Given the description of an element on the screen output the (x, y) to click on. 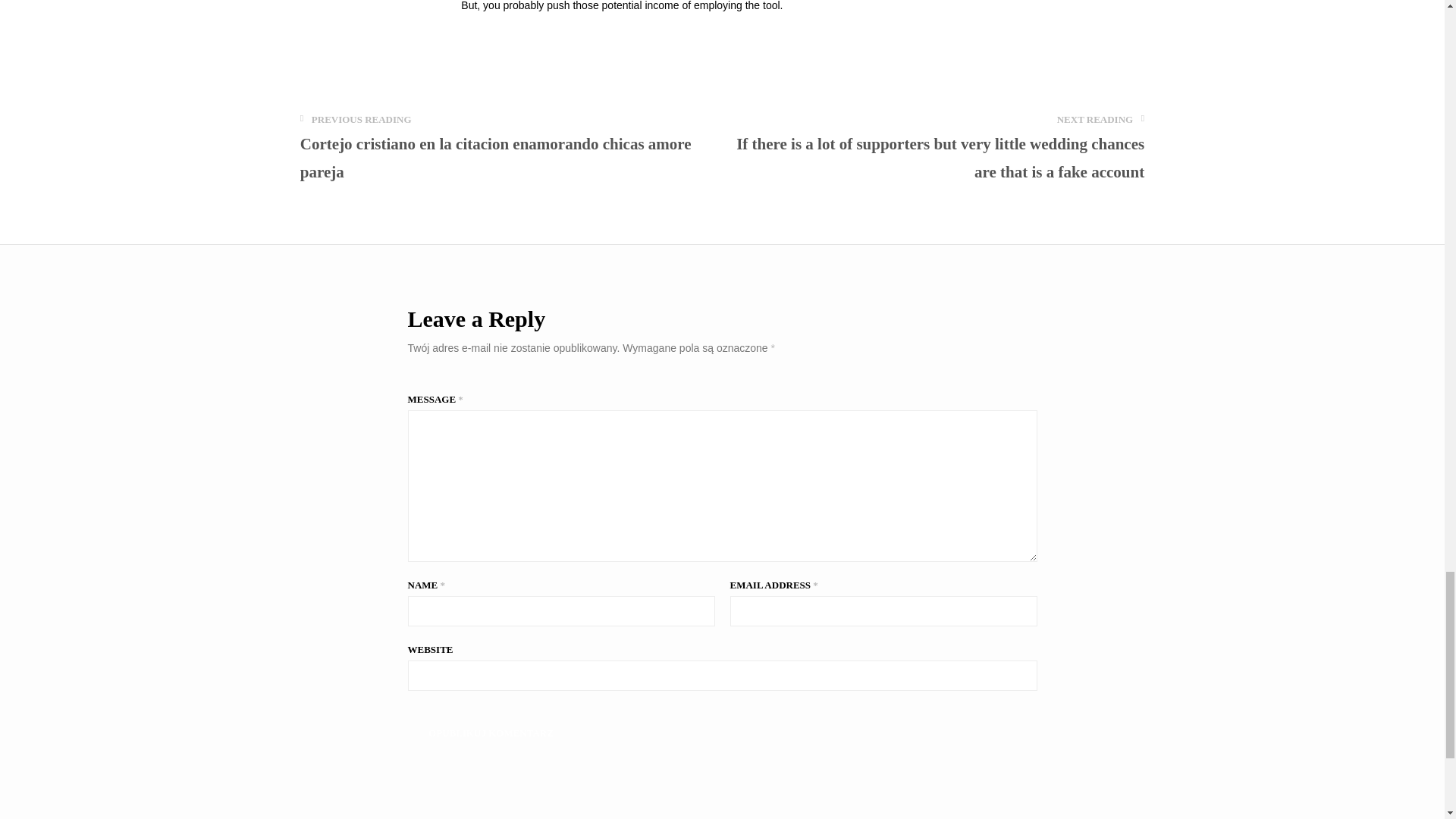
Opublikuj komentarz (491, 732)
Opublikuj komentarz (491, 732)
